Given the description of an element on the screen output the (x, y) to click on. 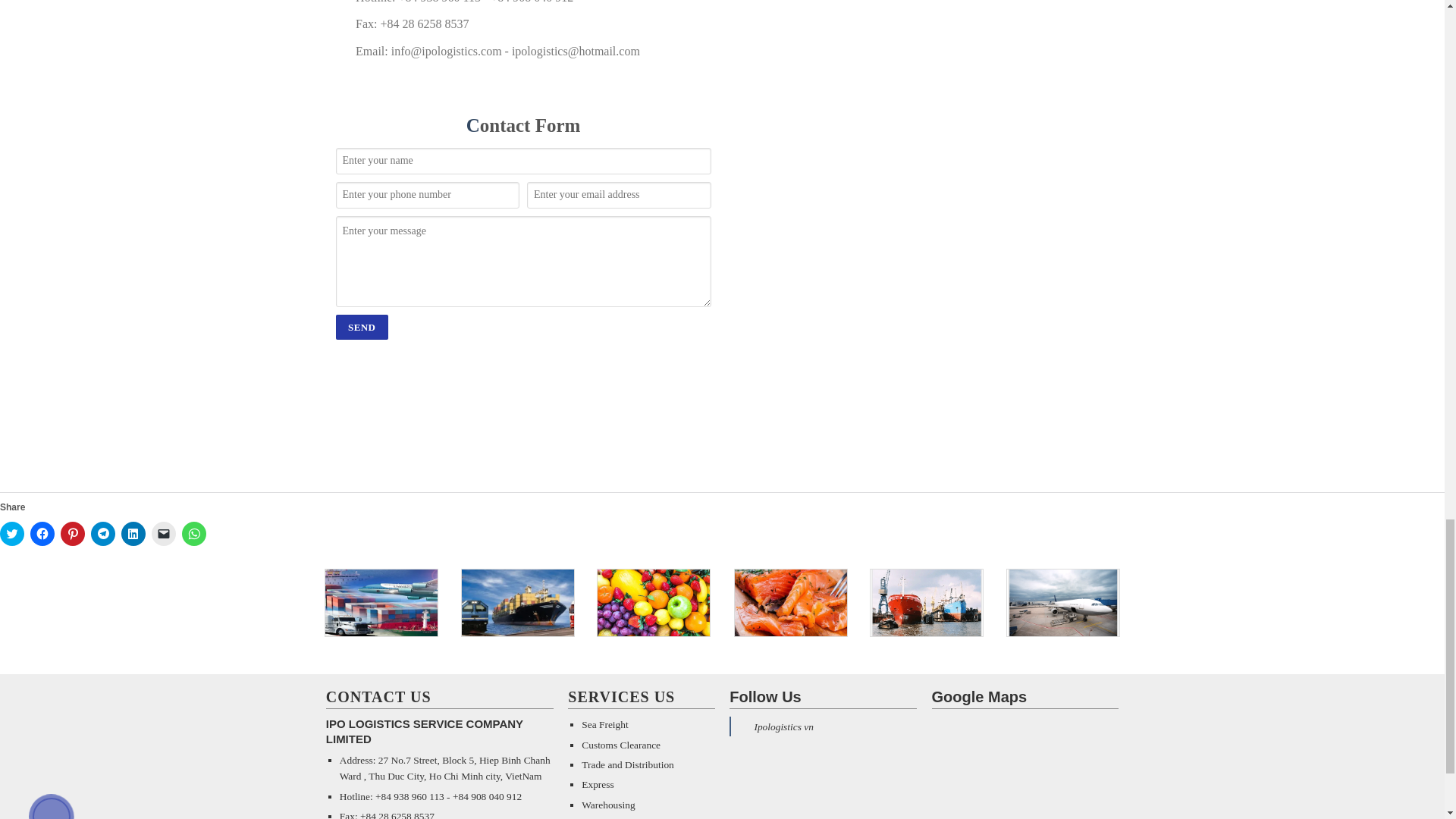
Click to share on Pinterest (72, 533)
Click to share on Facebook (42, 533)
Send (360, 326)
Click to share on LinkedIn (132, 533)
Click to share on WhatsApp (194, 533)
Click to email a link to a friend (163, 533)
Click to share on Twitter (12, 533)
Click to share on Telegram (102, 533)
Send (360, 326)
